Given the description of an element on the screen output the (x, y) to click on. 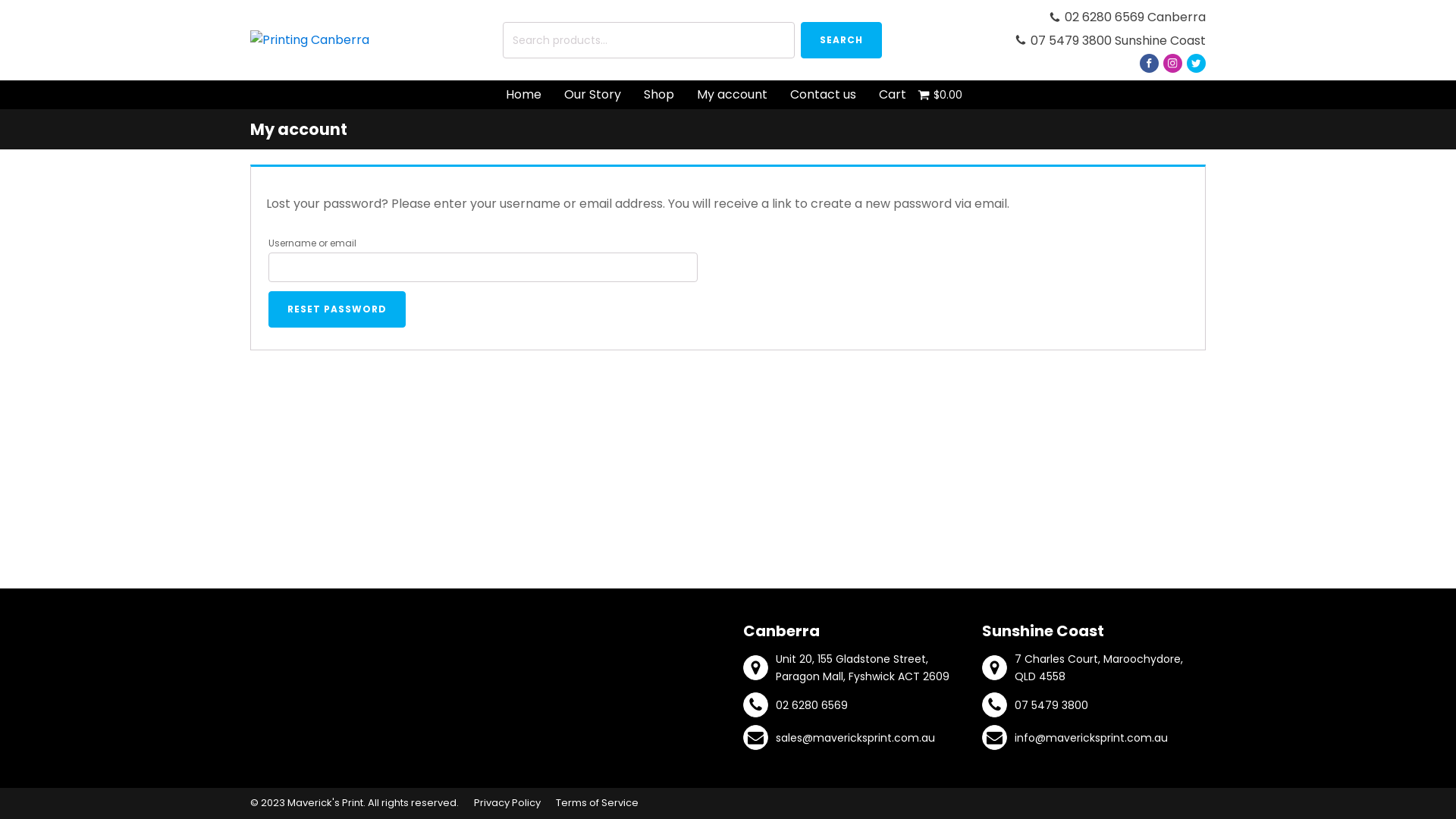
Cart Element type: text (892, 94)
My account Element type: text (731, 94)
Terms of Service Element type: text (597, 803)
Our Story Element type: text (591, 94)
Privacy Policy Element type: text (507, 803)
Shop Element type: text (658, 94)
Home Element type: text (523, 94)
Contact us Element type: text (822, 94)
SEARCH Element type: text (840, 39)
RESET PASSWORD Element type: text (336, 309)
